Given the description of an element on the screen output the (x, y) to click on. 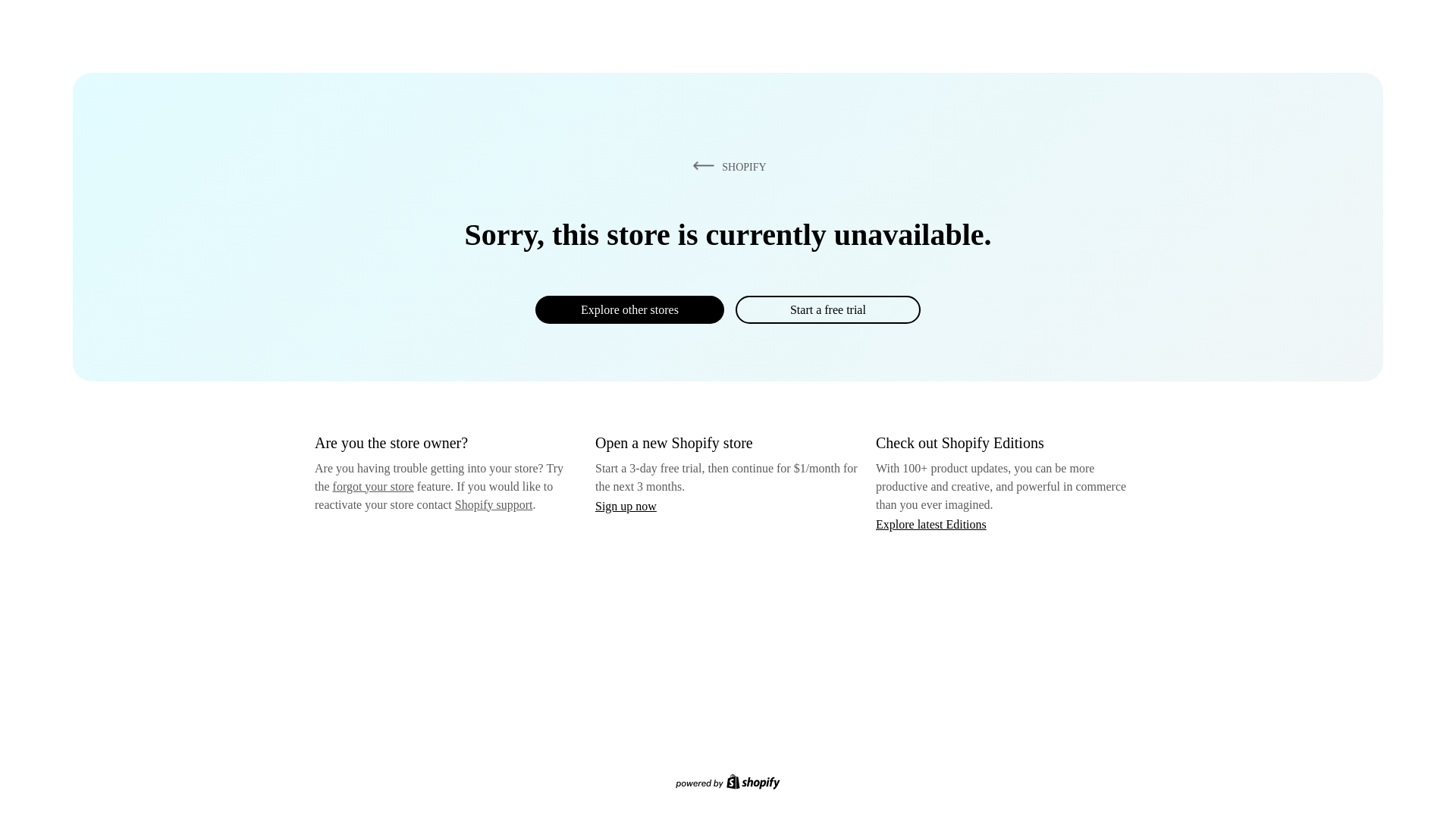
Start a free trial (827, 309)
forgot your store (373, 486)
Explore other stores (629, 309)
Sign up now (625, 505)
Shopify support (493, 504)
SHOPIFY (726, 166)
Explore latest Editions (931, 523)
